Given the description of an element on the screen output the (x, y) to click on. 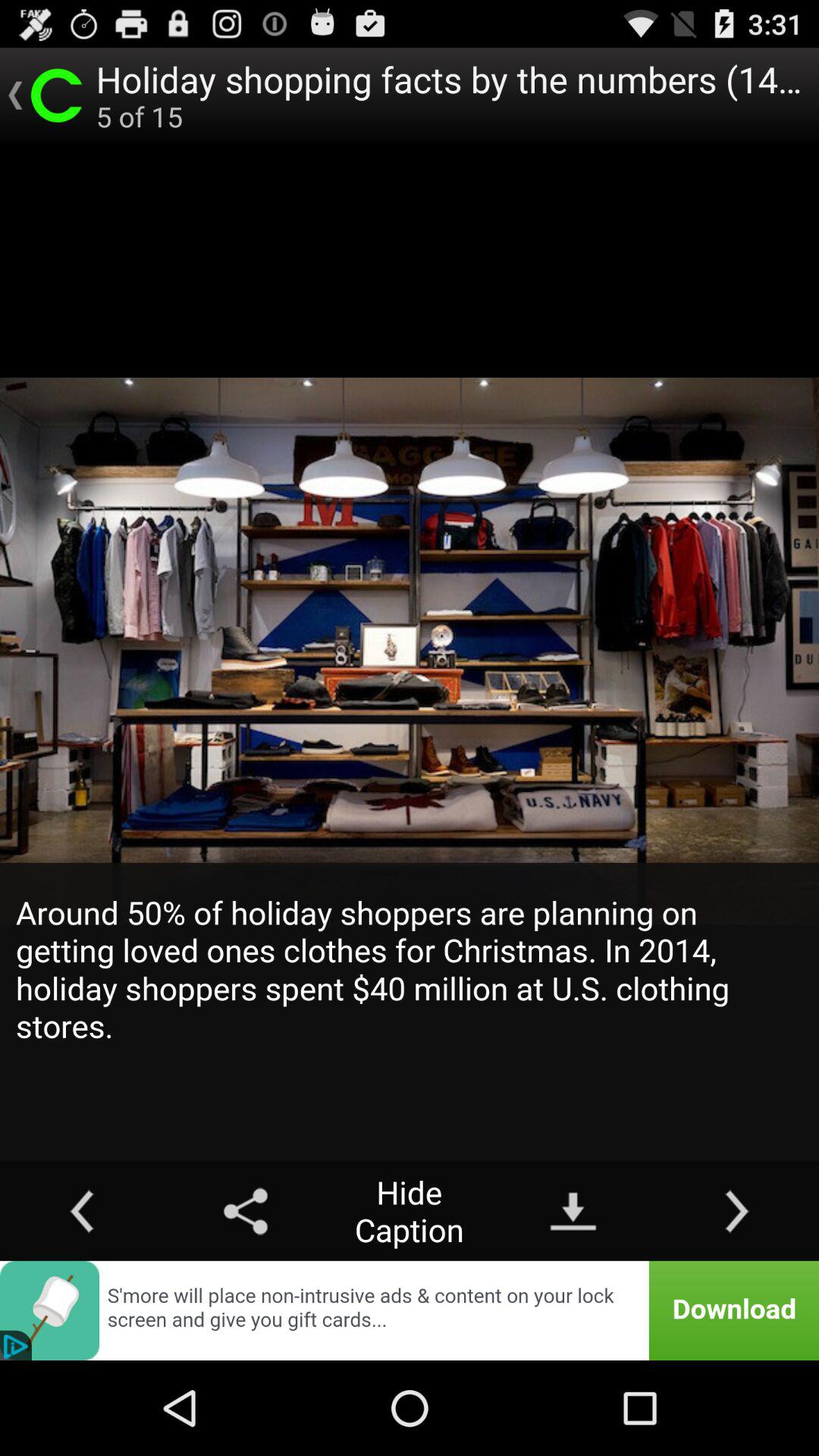
click the hide caption icon (409, 1210)
